Given the description of an element on the screen output the (x, y) to click on. 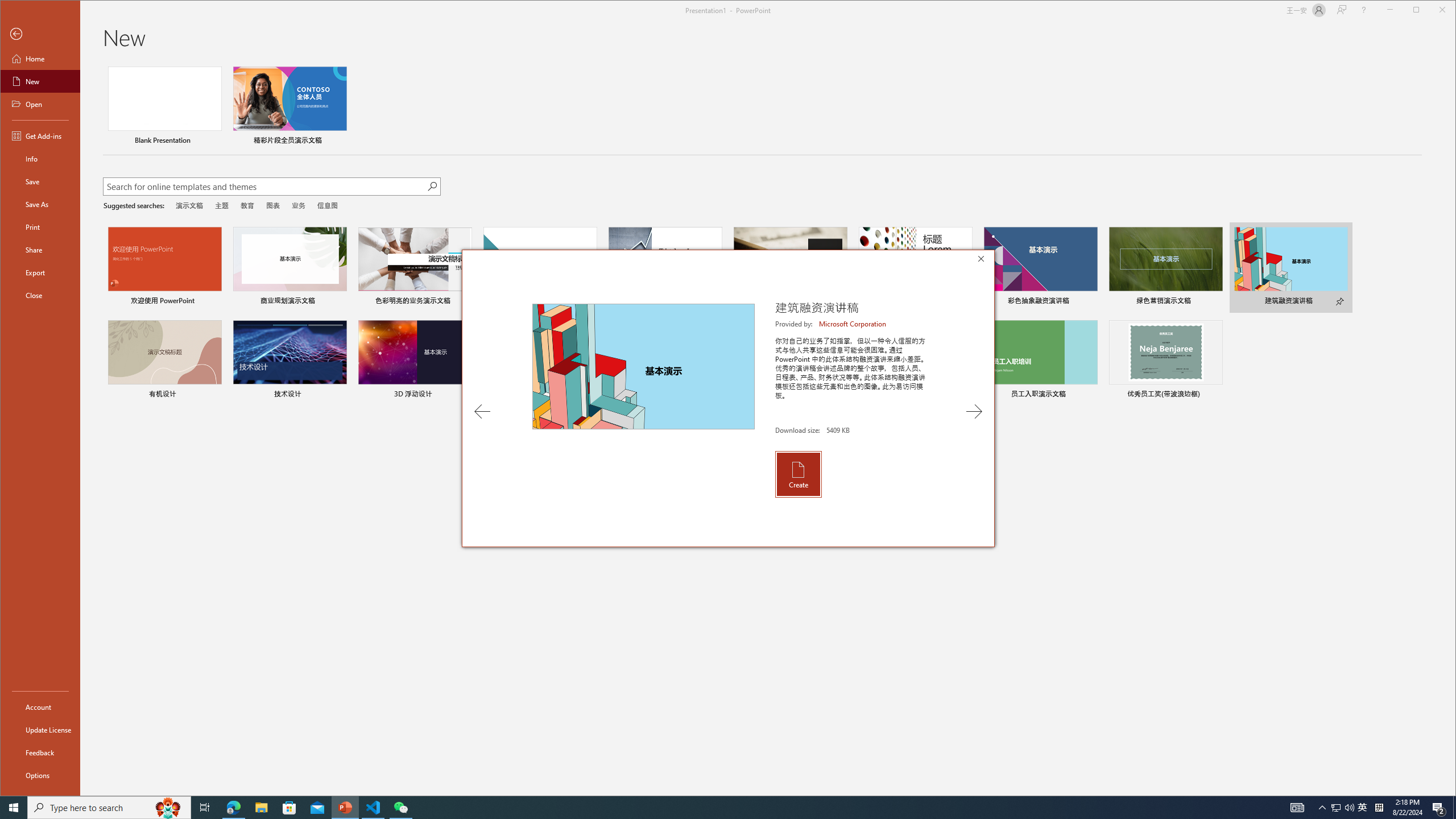
Feedback (40, 752)
Print (40, 226)
